Given the description of an element on the screen output the (x, y) to click on. 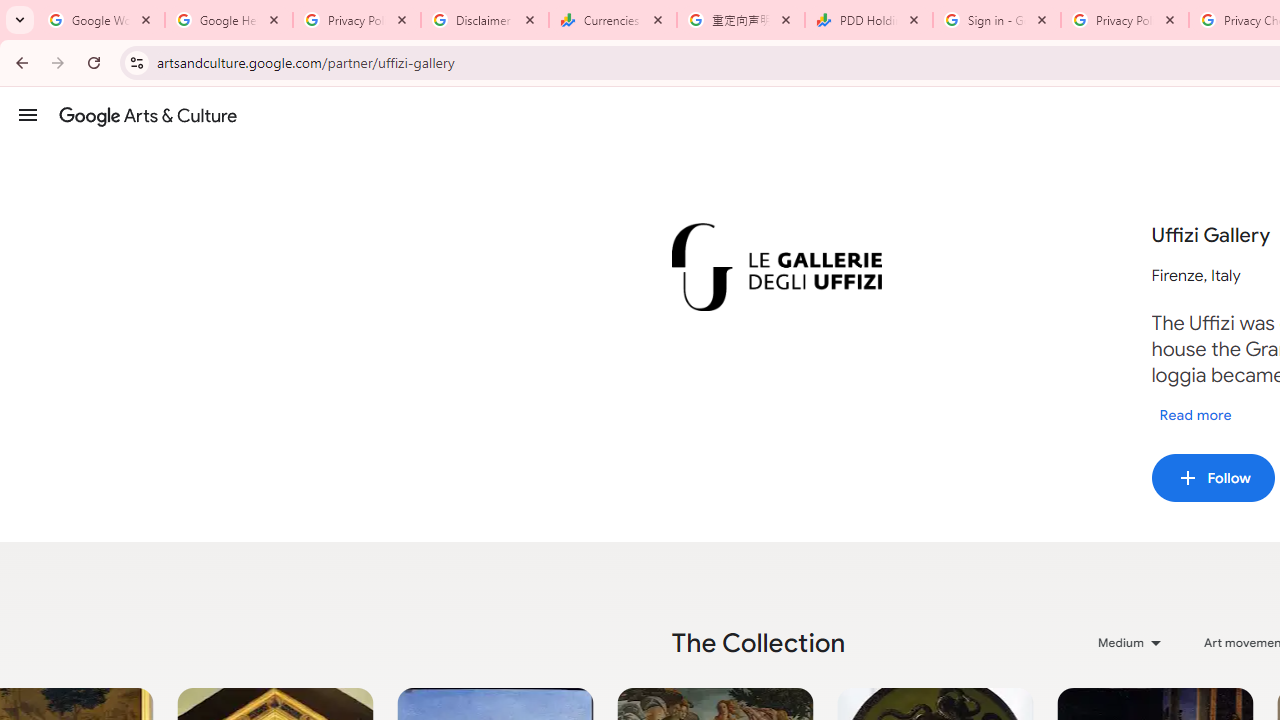
Google Arts & Culture (148, 115)
Menu (27, 114)
PDD Holdings Inc - ADR (PDD) Price & News - Google Finance (869, 20)
Uffizi Gallery (775, 267)
